Given the description of an element on the screen output the (x, y) to click on. 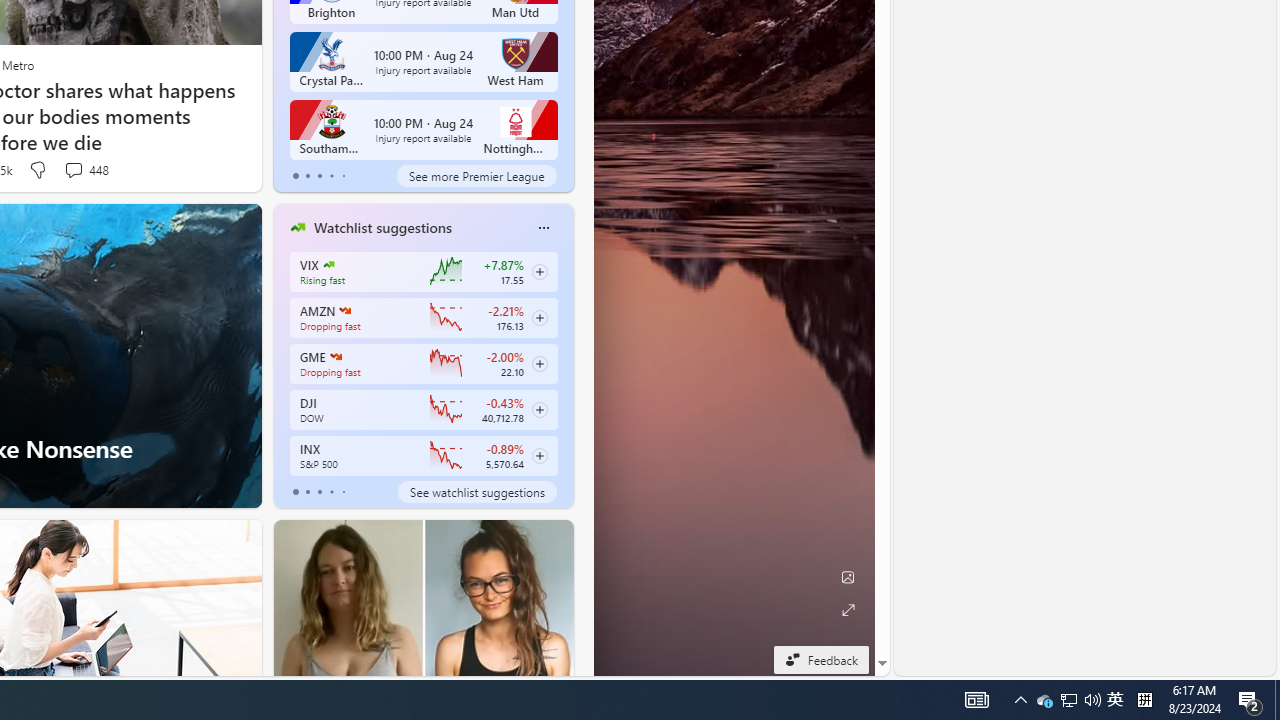
See more Premier League (476, 175)
Class: follow-button  m (539, 455)
GAMESTOP CORP. (334, 356)
tab-0 (295, 491)
Expand background (847, 610)
tab-4 (342, 491)
View comments 448 Comment (85, 170)
tab-1 (306, 491)
